Given the description of an element on the screen output the (x, y) to click on. 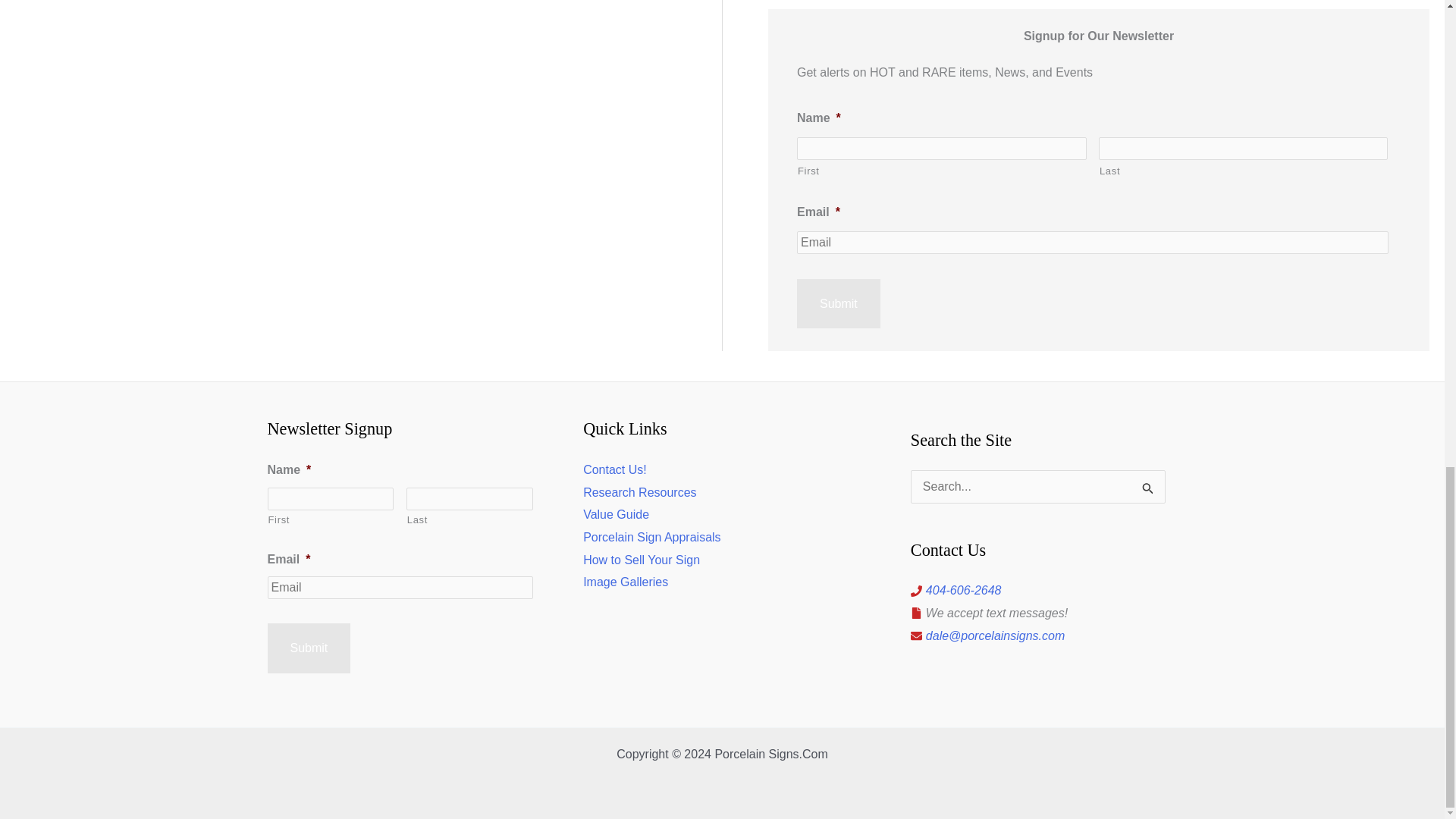
Submit (838, 304)
Submit (308, 648)
